Given the description of an element on the screen output the (x, y) to click on. 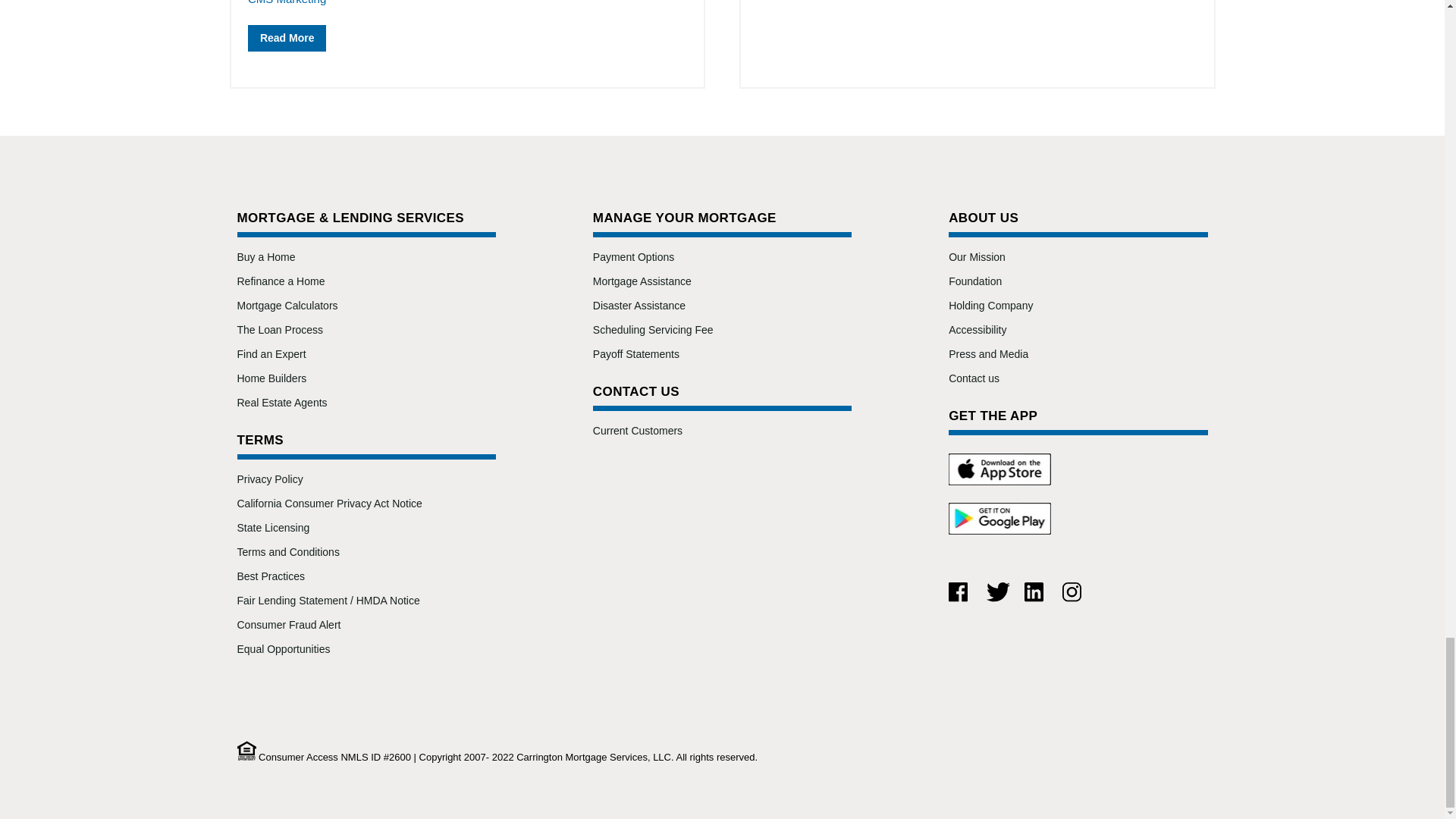
Refinance a Home (279, 281)
Icon-Facebook (958, 591)
Read More (286, 38)
The Loan Process (279, 329)
Mortgage Calculators (286, 305)
Icon-Linkedin (1034, 591)
Icon-EHO (245, 750)
Home Builders (270, 378)
Find an Expert (270, 354)
Buy a Home (265, 256)
Icon-Twitter (998, 591)
CMS Marketing (286, 2)
Real Estate Agents (280, 402)
Icon-Instagram (1071, 591)
